Given the description of an element on the screen output the (x, y) to click on. 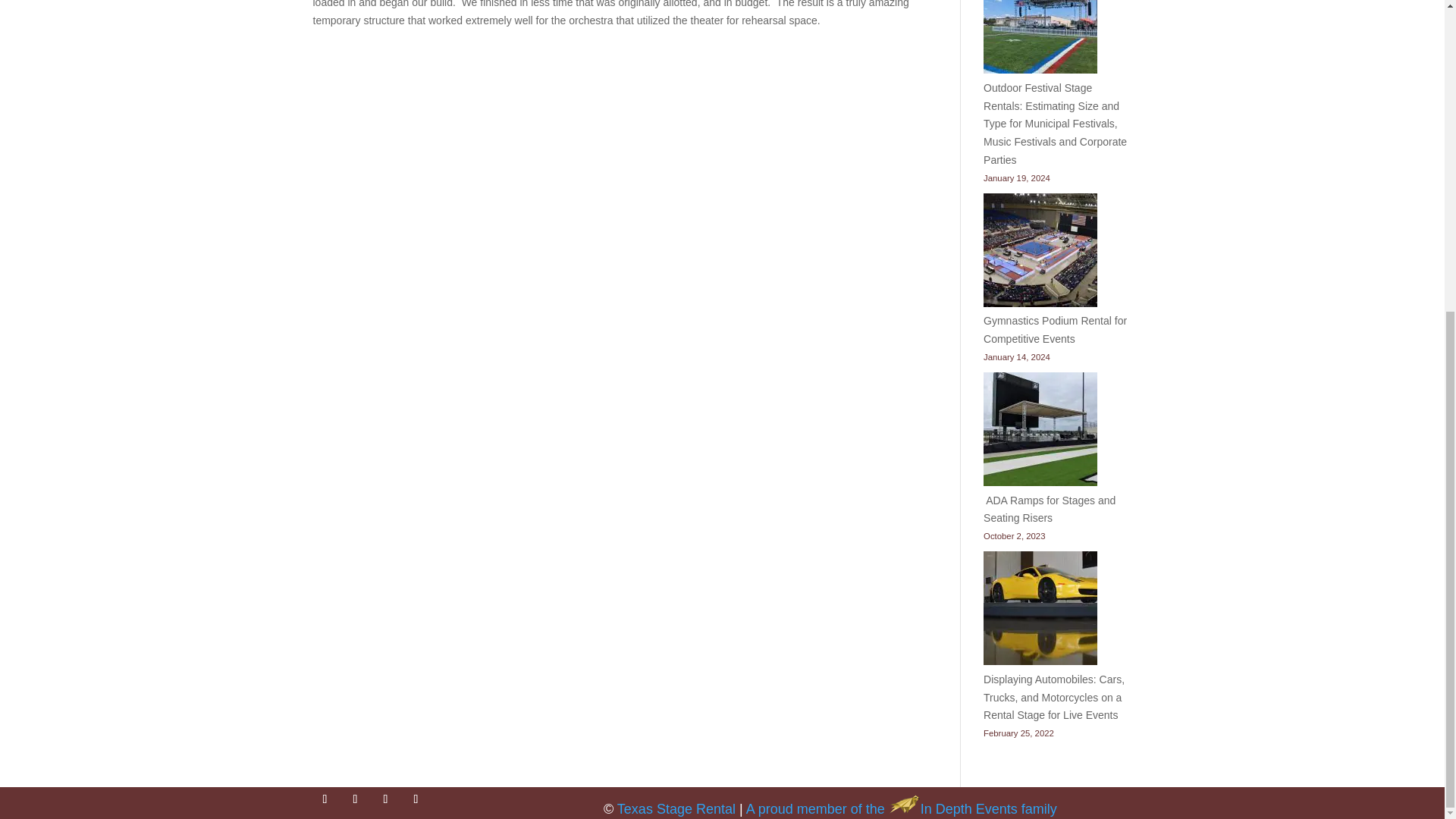
Follow on Youtube (415, 799)
Follow on LinkedIn (384, 799)
Follow on Instagram (354, 799)
Follow on Facebook (324, 799)
